Given the description of an element on the screen output the (x, y) to click on. 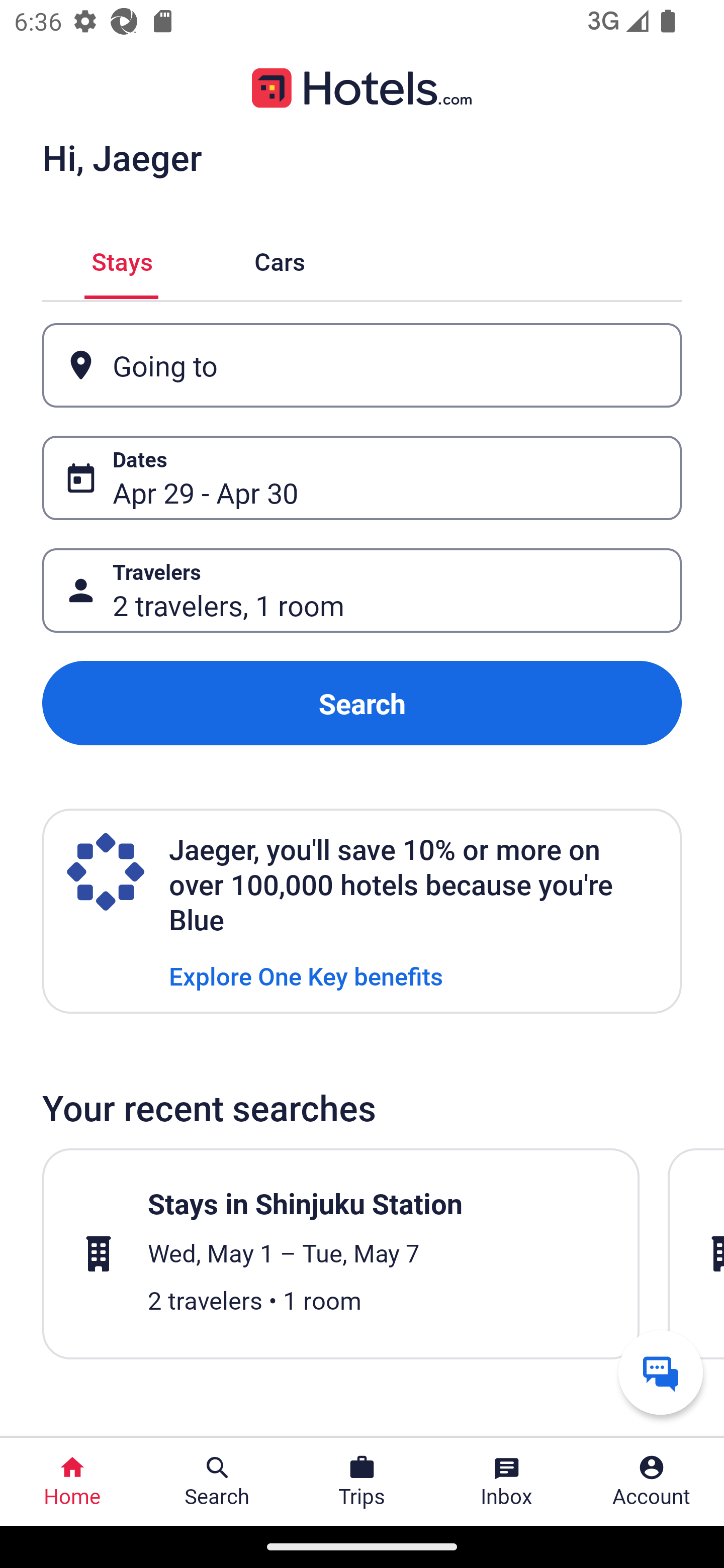
Hi, Jaeger (121, 156)
Cars (279, 259)
Going to Button (361, 365)
Dates Button Apr 29 - Apr 30 (361, 477)
Travelers Button 2 travelers, 1 room (361, 590)
Search (361, 702)
Get help from a virtual agent (660, 1371)
Search Search Button (216, 1481)
Trips Trips Button (361, 1481)
Inbox Inbox Button (506, 1481)
Account Profile. Button (651, 1481)
